Given the description of an element on the screen output the (x, y) to click on. 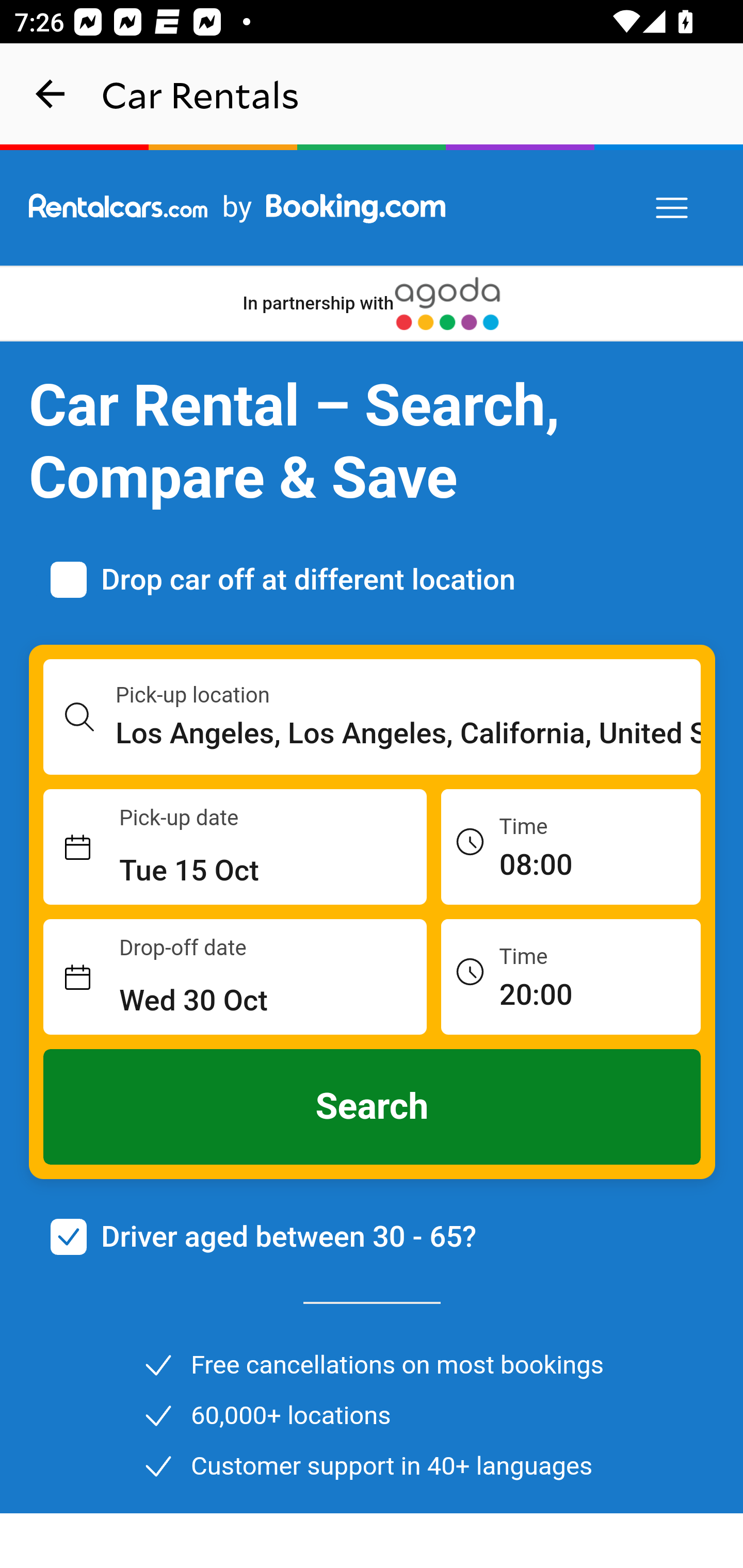
navigation_button (50, 93)
